Given the description of an element on the screen output the (x, y) to click on. 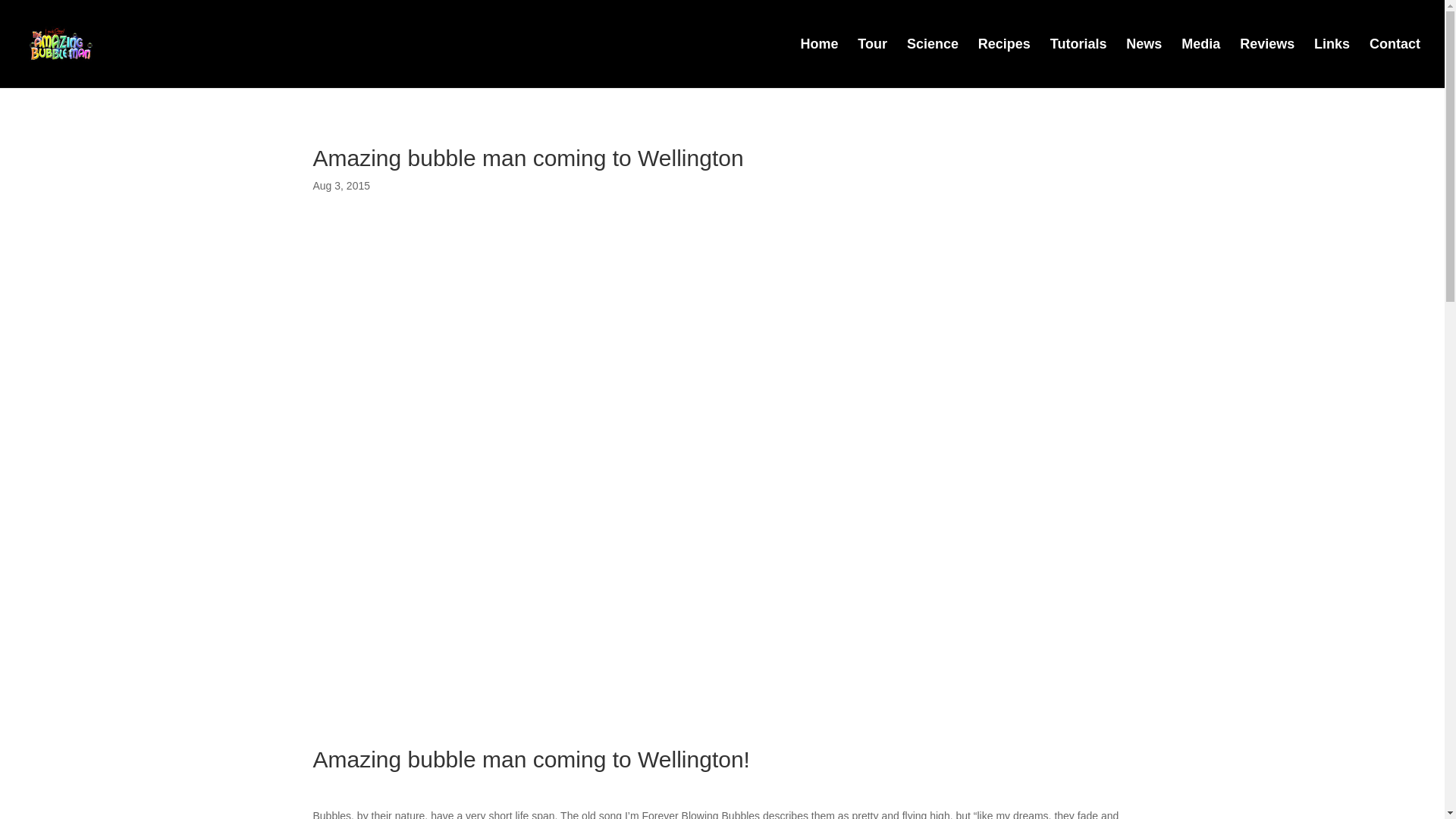
Recipes (1004, 62)
Reviews (1267, 62)
Tutorials (1077, 62)
Science (932, 62)
Contact (1395, 62)
